Given the description of an element on the screen output the (x, y) to click on. 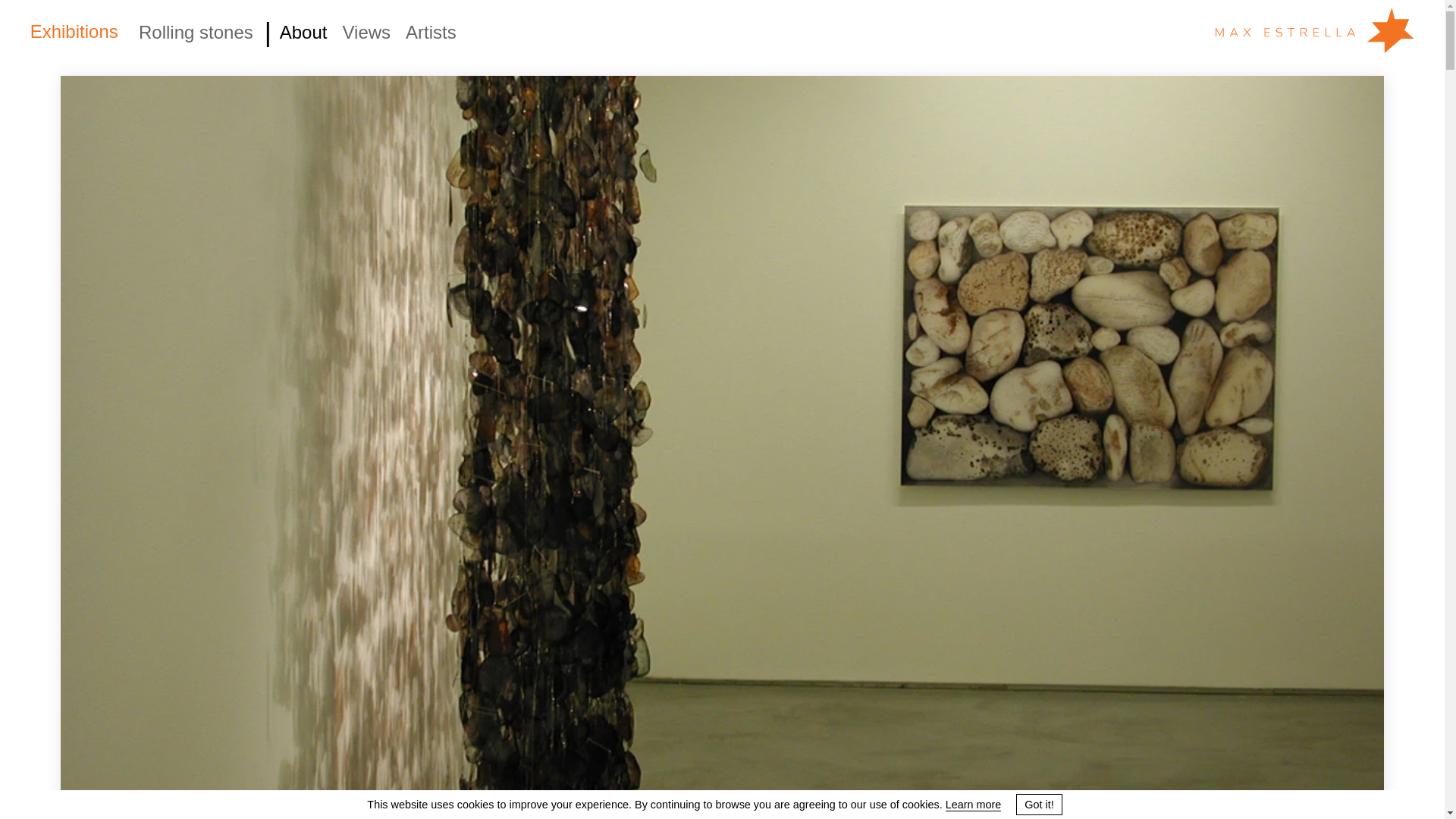
Artists (431, 31)
Learn more (972, 804)
About (303, 31)
Exhibitions (73, 31)
Views (366, 31)
Got it! (1038, 804)
